Given the description of an element on the screen output the (x, y) to click on. 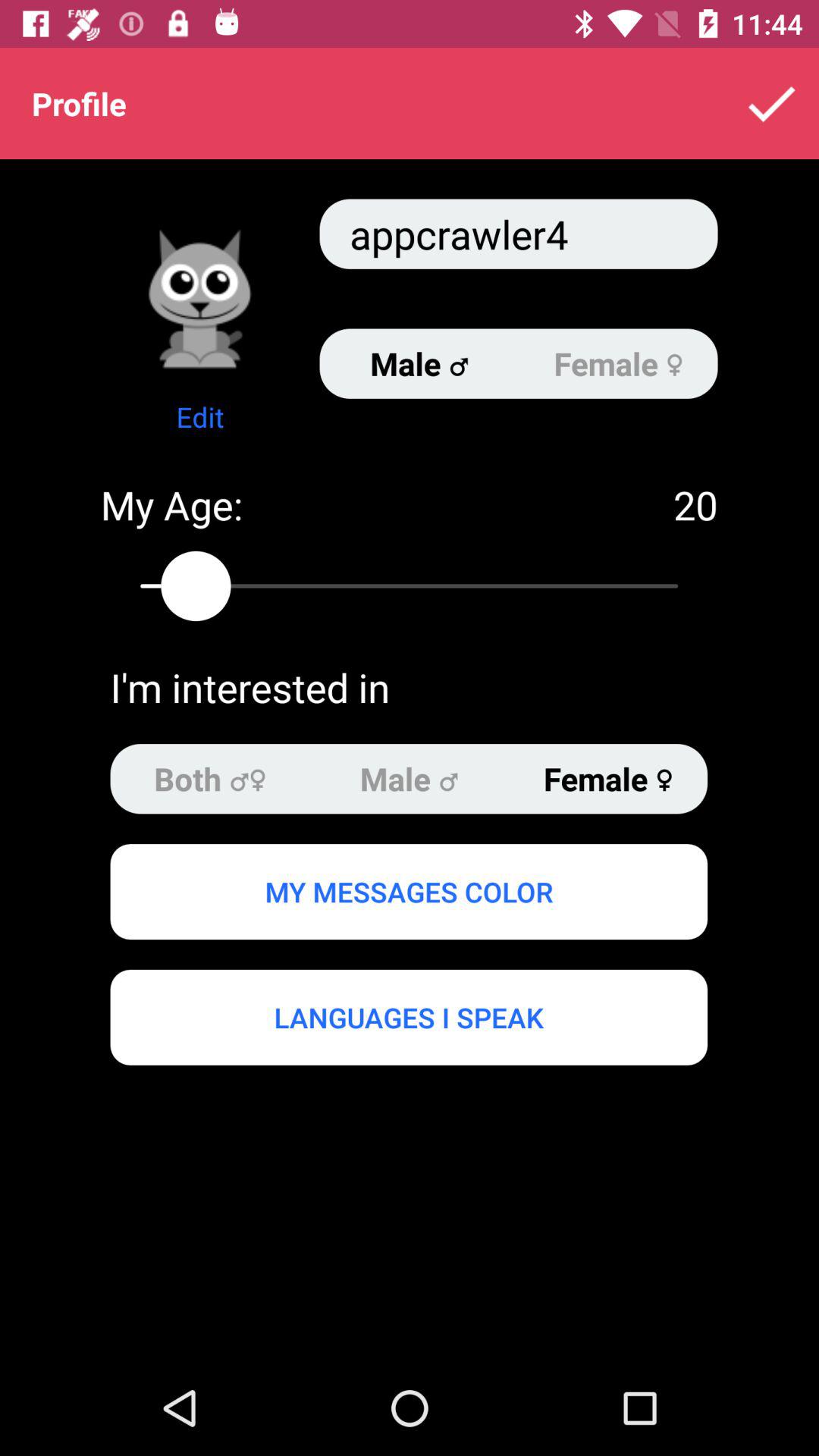
scroll until edit icon (199, 416)
